Given the description of an element on the screen output the (x, y) to click on. 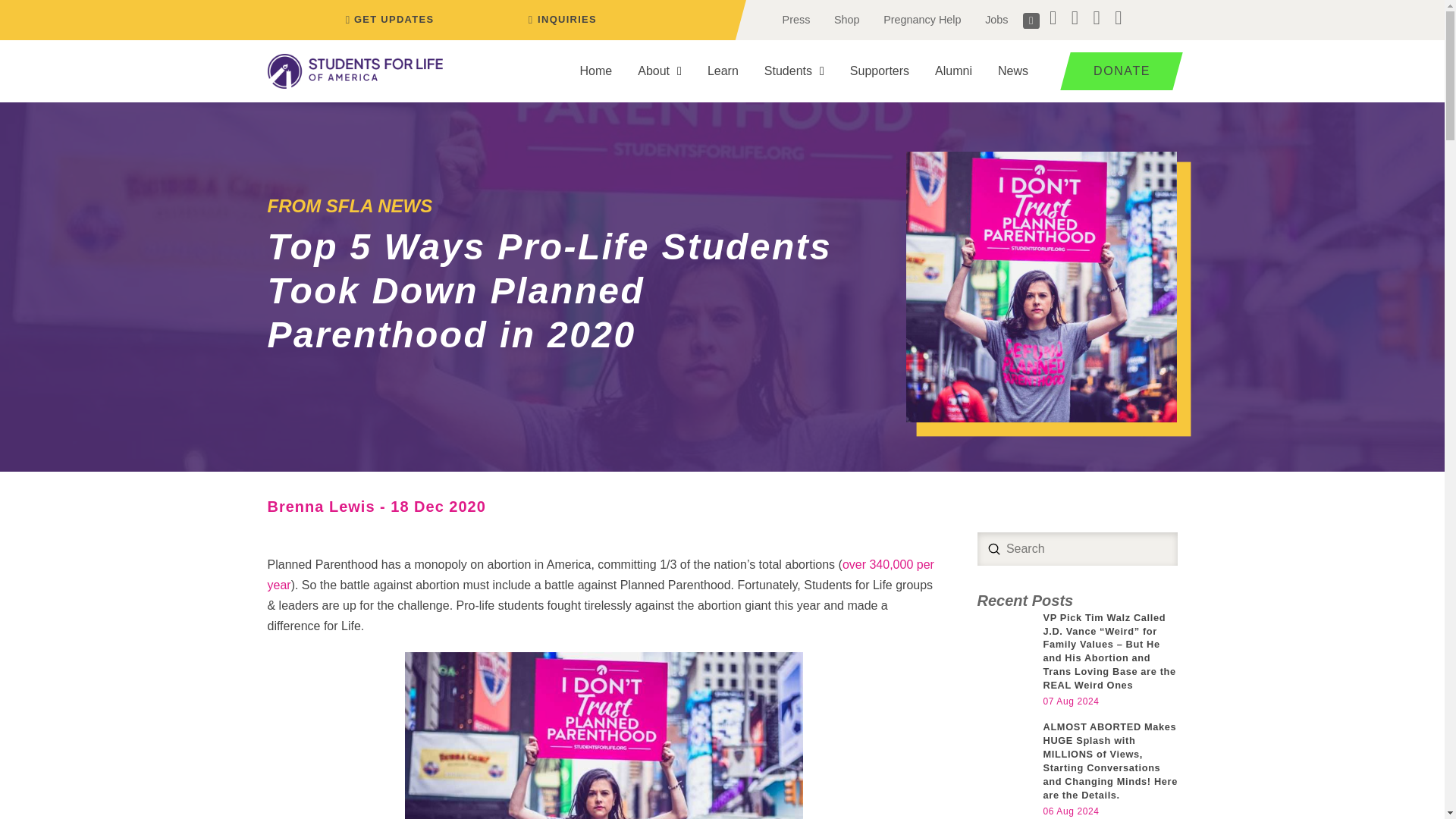
Press (796, 20)
Pregnancy Help (921, 20)
Students (794, 71)
Jobs (996, 20)
Shop (846, 20)
DONATE (1115, 71)
Supporters (879, 71)
Home (596, 71)
News (1013, 71)
About (659, 71)
